Given the description of an element on the screen output the (x, y) to click on. 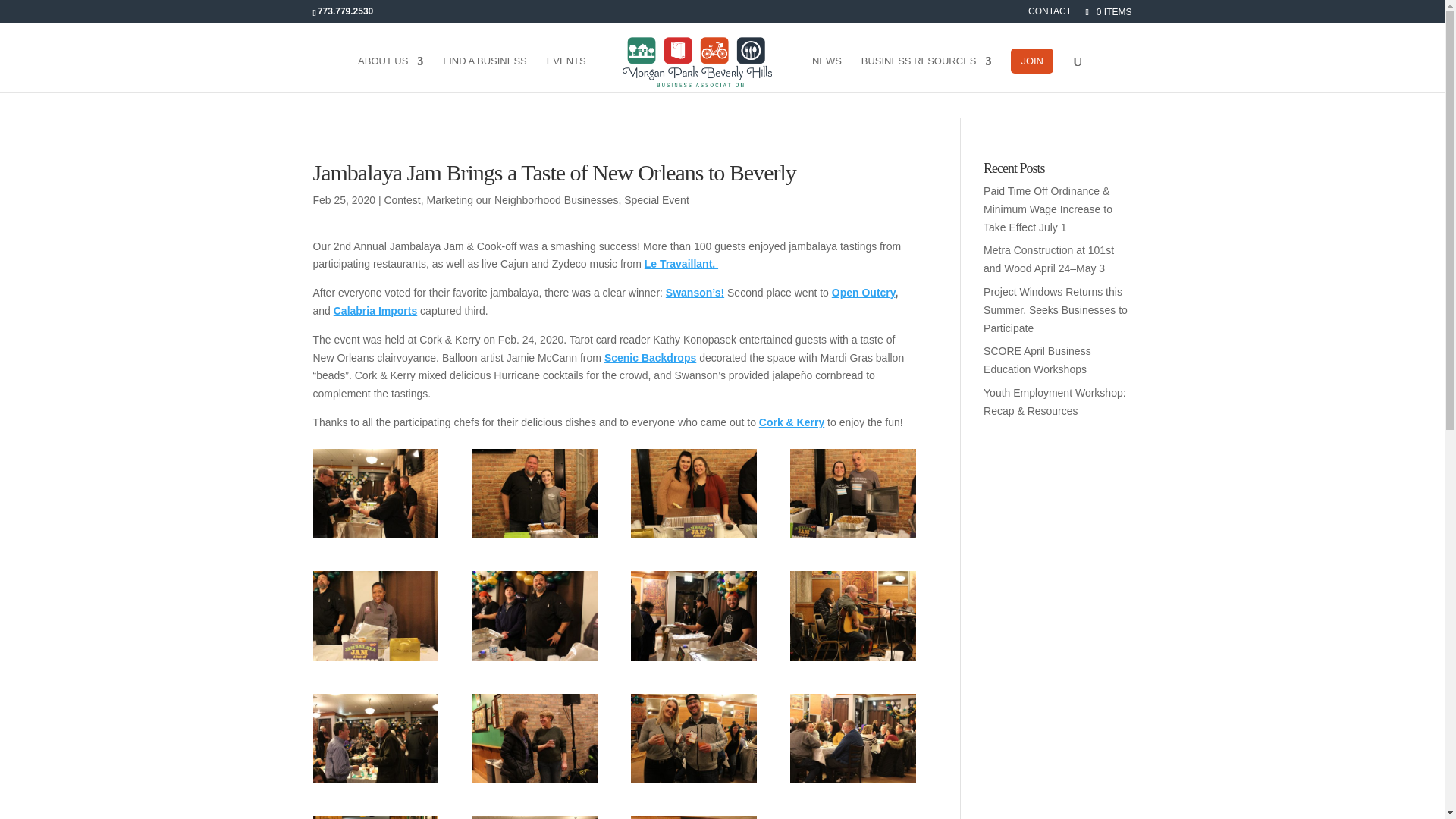
jambalaya Jam 2020 (852, 538)
Contest (402, 200)
NEWS (826, 73)
jambalaya Jam 2020 (852, 660)
jambalaya Jam 2020 (693, 783)
BUSINESS RESOURCES (926, 73)
jambalaya Jam 2020 (852, 783)
Le Travaillant.  (681, 263)
jambalaya Jam 2020 (533, 538)
jambalaya Jam 2020 (693, 538)
EVENTS (566, 73)
Special Event (656, 200)
jambalaya Jam 2020 (533, 660)
jambalaya Jam 2020 (533, 783)
jambalaya Jam 2020 (375, 660)
